Given the description of an element on the screen output the (x, y) to click on. 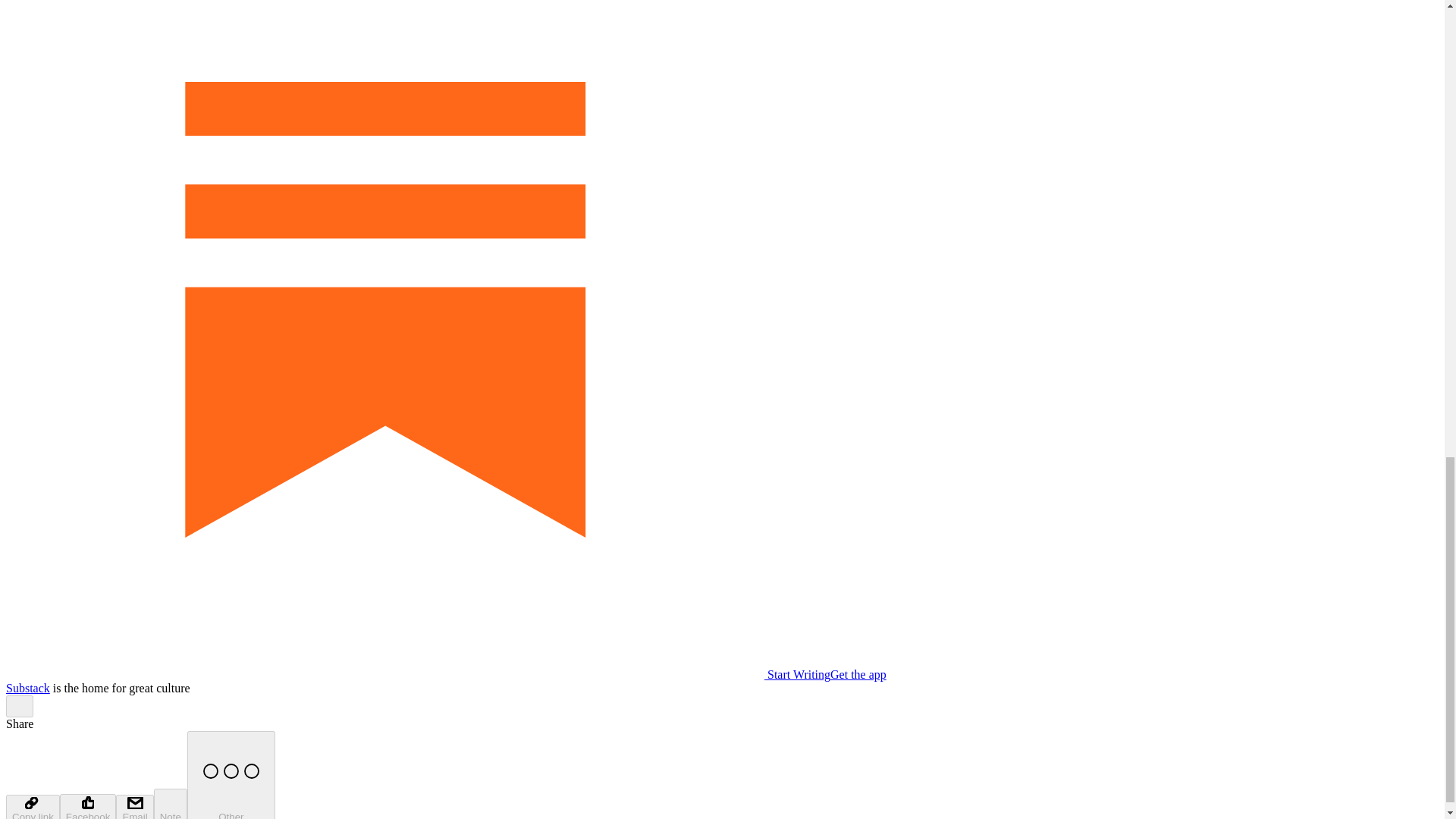
Get the app (857, 674)
Substack (27, 687)
Start Writing (417, 674)
